Given the description of an element on the screen output the (x, y) to click on. 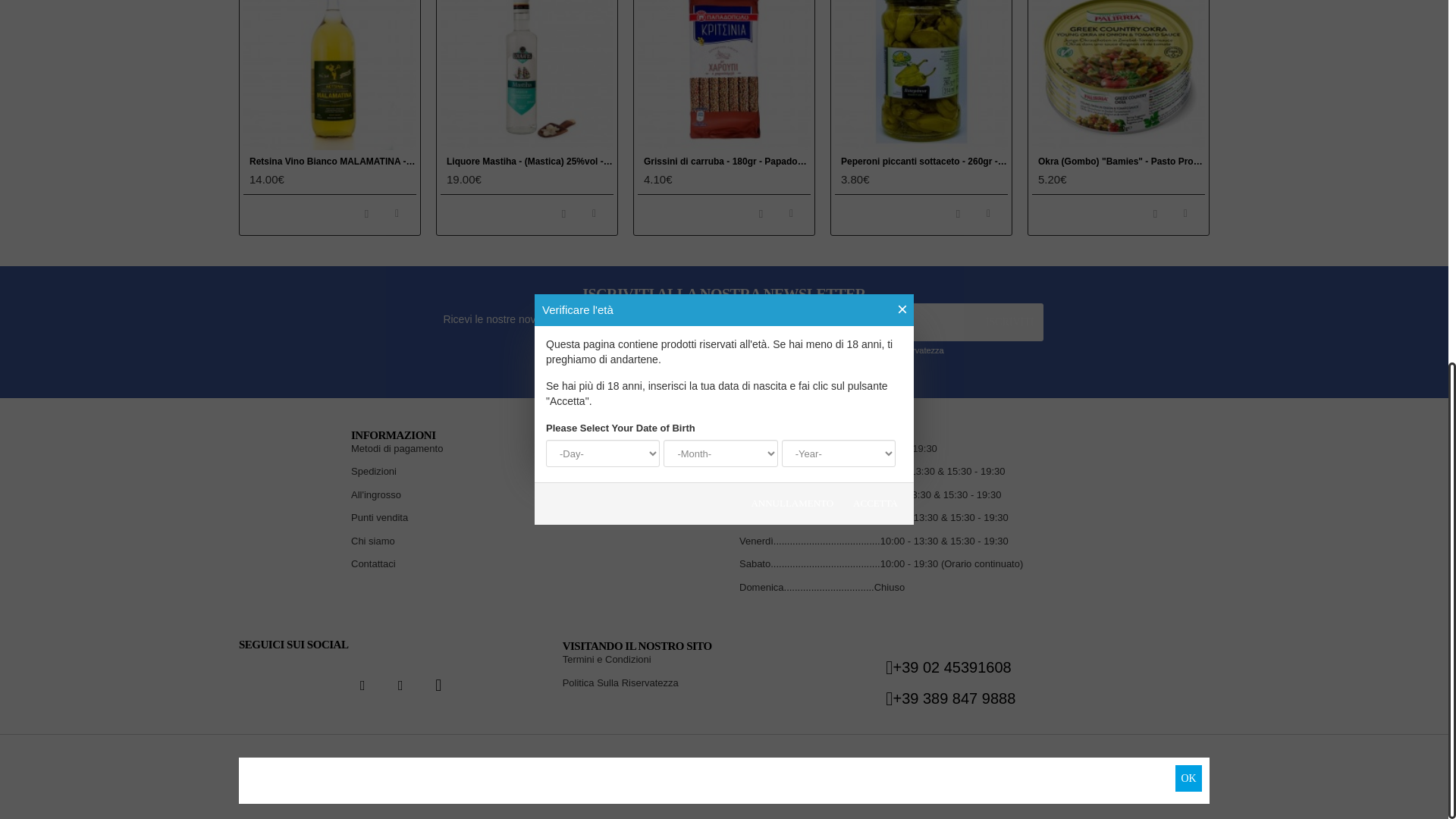
Aggiungi alla lista dei desideri (563, 213)
Aggiungi alla lista dei desideri (366, 213)
Confronta questo prodotto (593, 213)
1 (765, 352)
Grissini di carruba - 180gr - Papadopoulou (723, 74)
Confronta questo prodotto (397, 213)
Aggiungi alla lista dei desideri (761, 213)
